Given the description of an element on the screen output the (x, y) to click on. 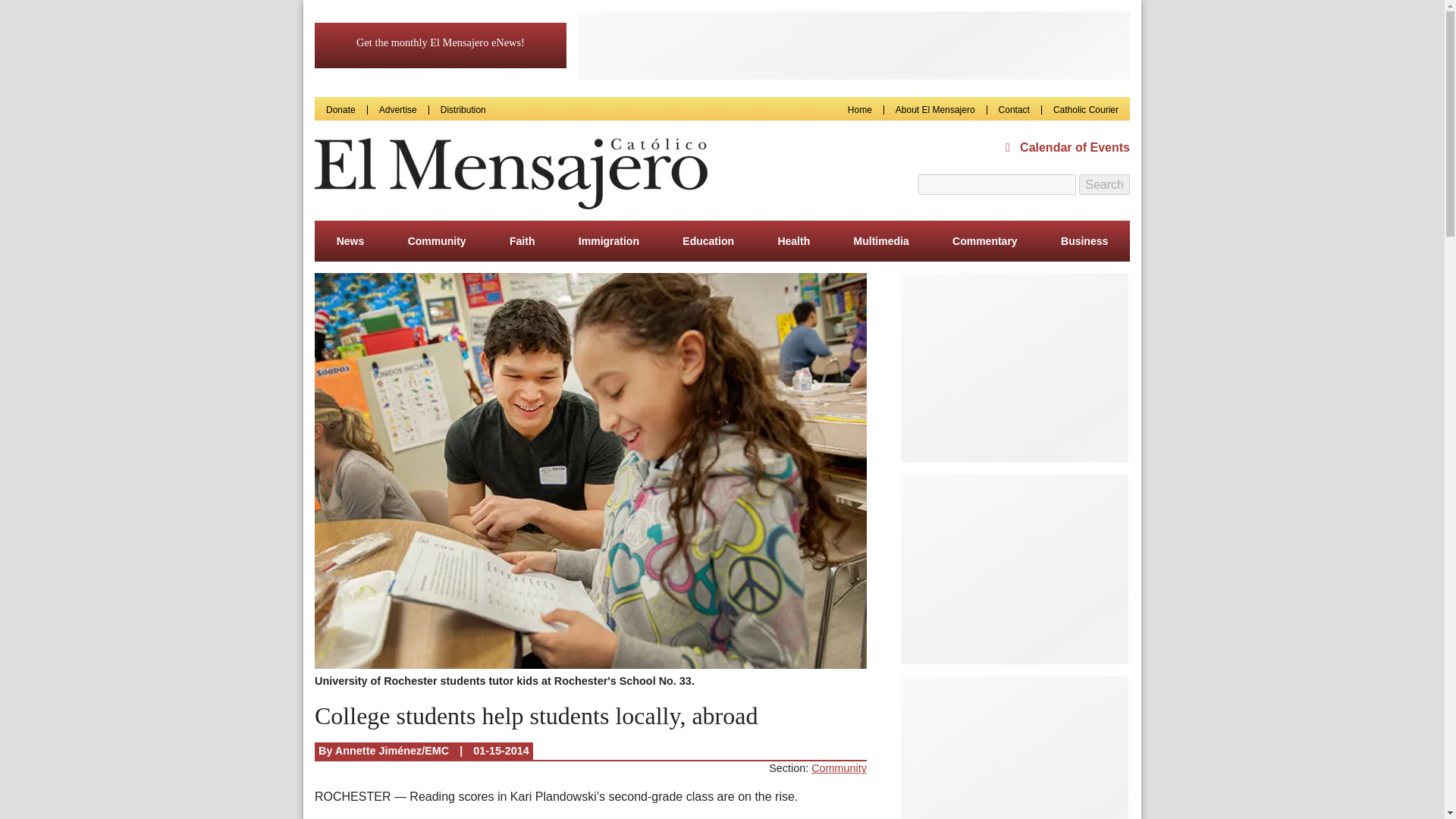
Donate (340, 108)
Immigration (608, 240)
Faith (521, 240)
About El Mensajero (935, 108)
Distribution (463, 108)
Education (708, 240)
Business (1084, 240)
3rd party ad content (853, 45)
Catholic Courier (1085, 108)
College students help students locally, abroad (590, 472)
Search (1103, 184)
Advertise (397, 108)
  Calendar of Events (1067, 147)
Community (838, 767)
3rd party ad content (1014, 367)
